Given the description of an element on the screen output the (x, y) to click on. 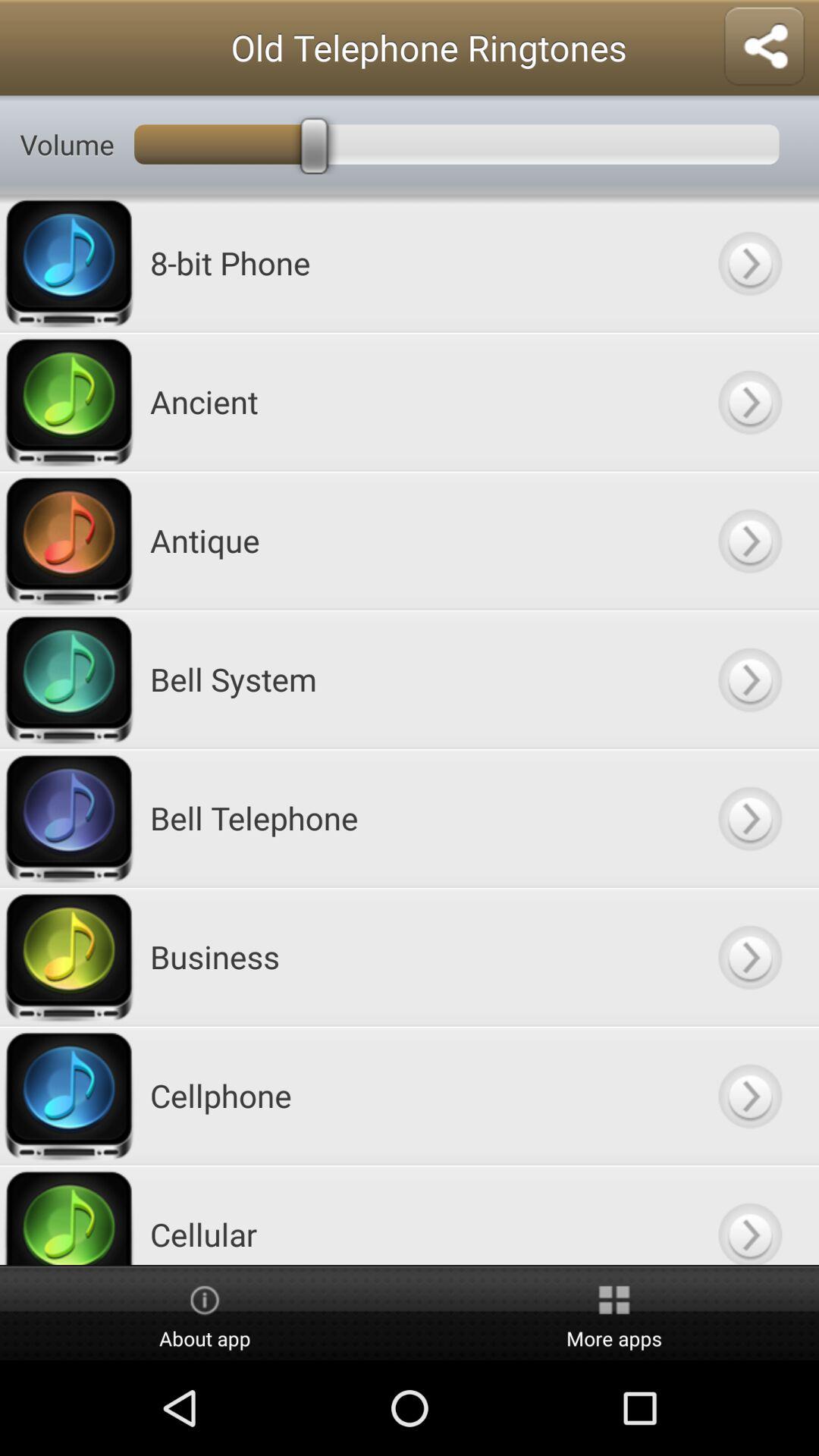
play button (749, 1214)
